Given the description of an element on the screen output the (x, y) to click on. 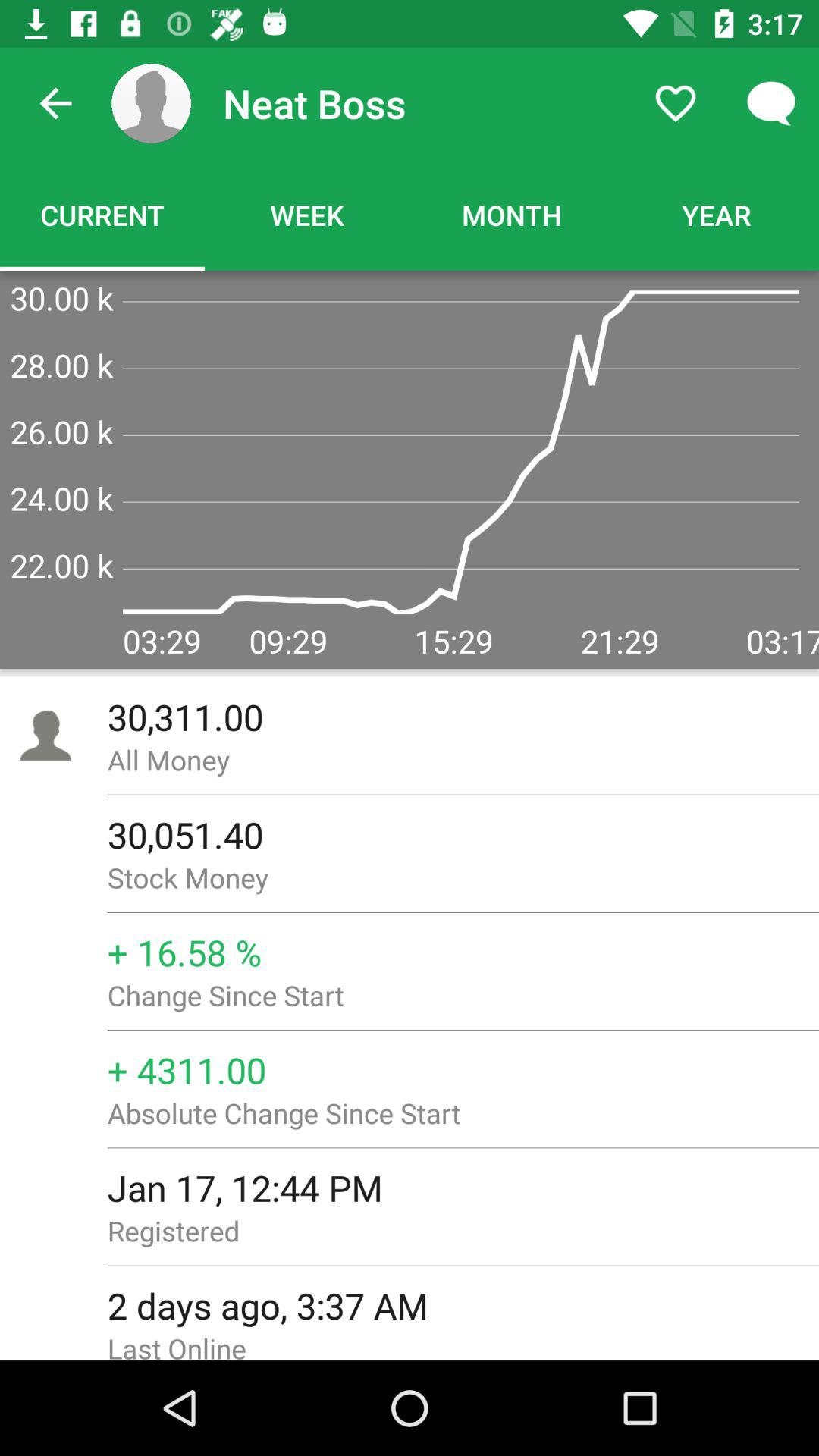
open the icon next to neat boss item (151, 103)
